Given the description of an element on the screen output the (x, y) to click on. 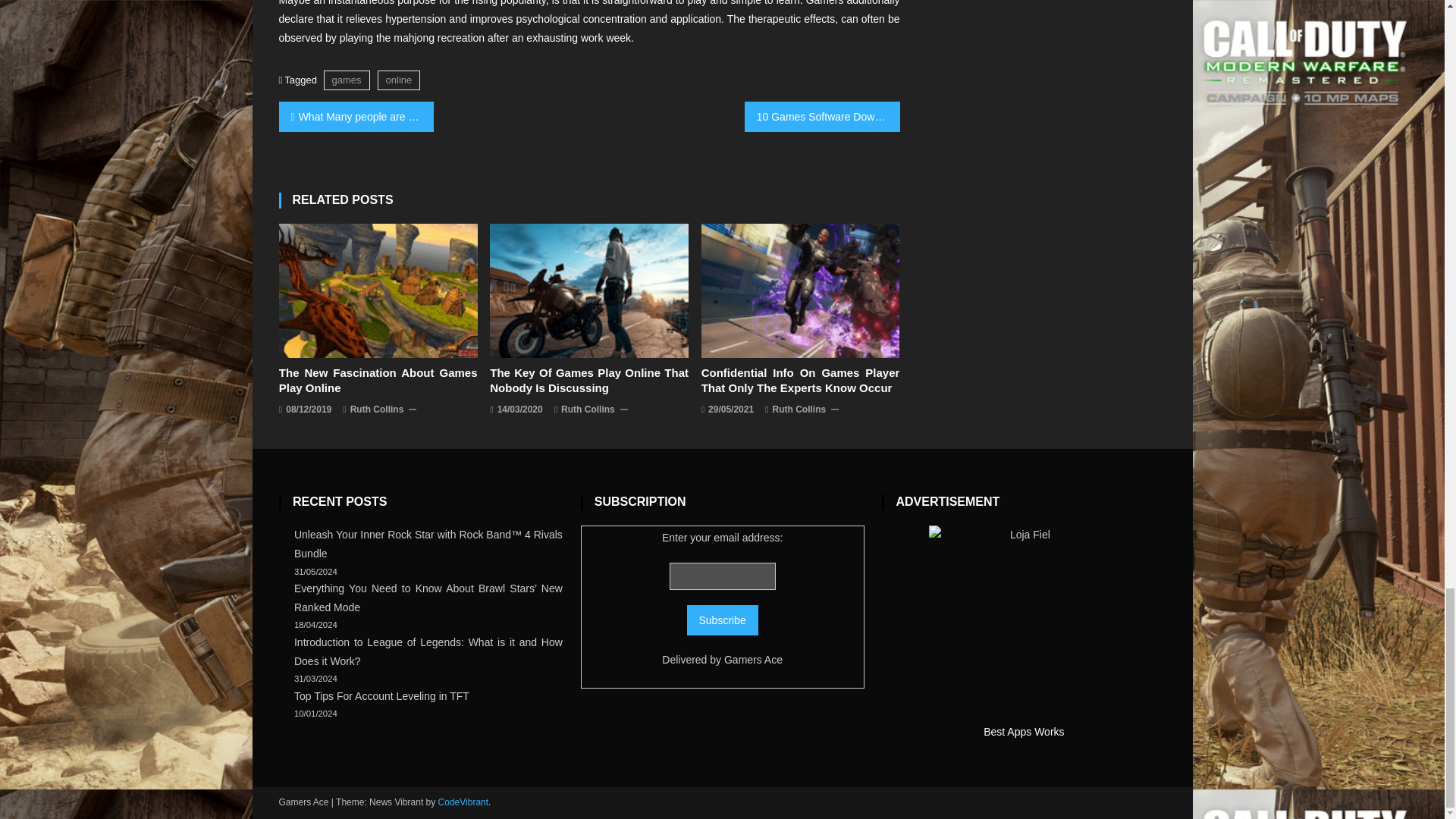
The New Fascination About Games Play Online (378, 290)
games (346, 79)
Loja Fiel (1023, 619)
online (398, 79)
Subscribe (722, 620)
10 Games Software Download that Will Stone The Coming Year (821, 116)
Ruth Collins (587, 410)
Ruth Collins (377, 410)
The New Fascination About Games Play Online (378, 380)
The Key Of Games Play Online That Nobody Is Discussing (588, 380)
Ruth Collins (800, 410)
The Key of Games Play Online That Nobody is Discussing (588, 290)
